Given the description of an element on the screen output the (x, y) to click on. 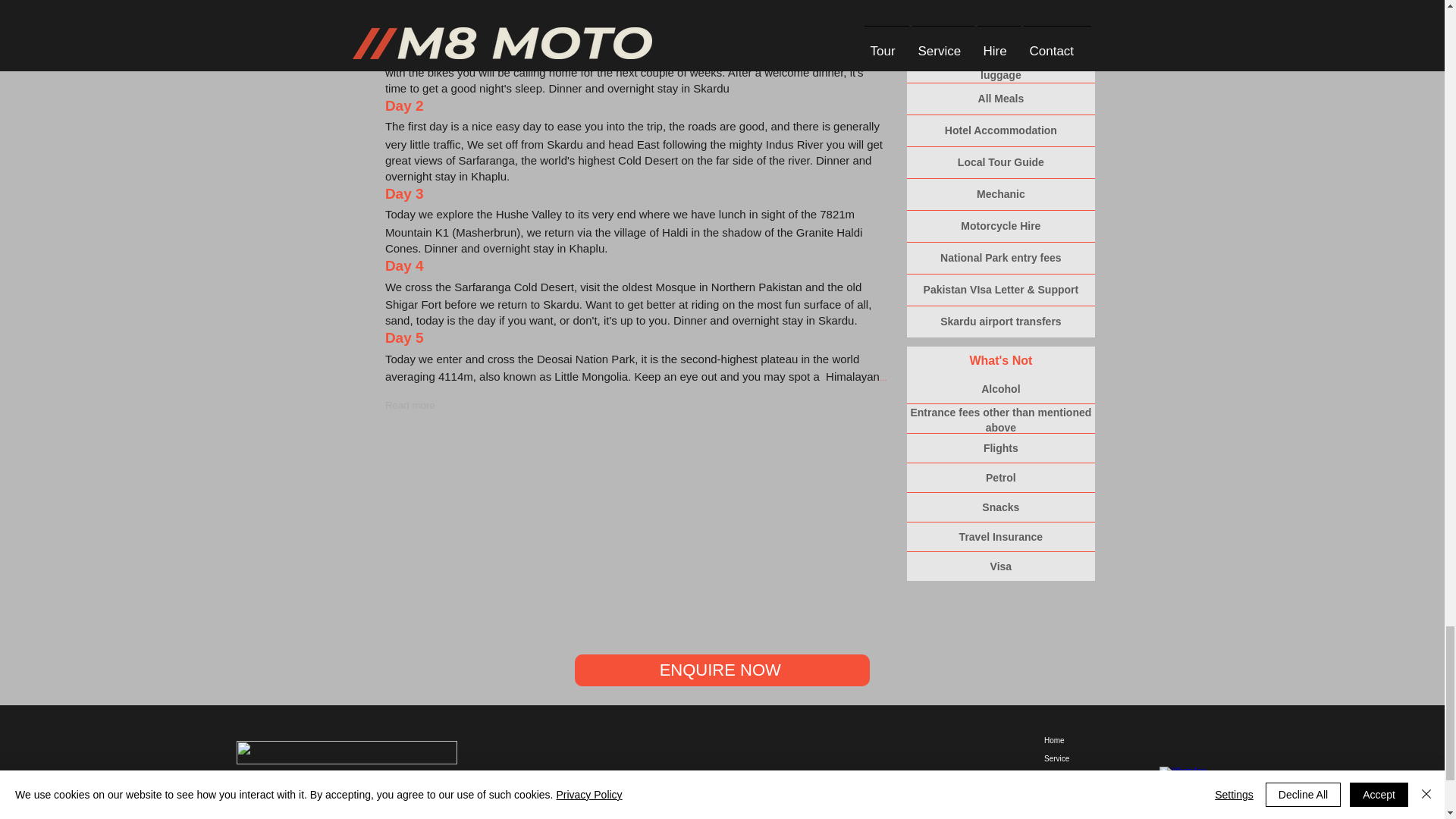
WhatsApp Button 1.jpeg (1218, 786)
Sign Up (563, 806)
ENQUIRE NOW (722, 670)
Home (1068, 741)
Hire (1068, 795)
Blog (1068, 811)
Read more (410, 405)
Service (1068, 759)
M8 Logo Name Only.png (346, 752)
Tour (1068, 777)
